Given the description of an element on the screen output the (x, y) to click on. 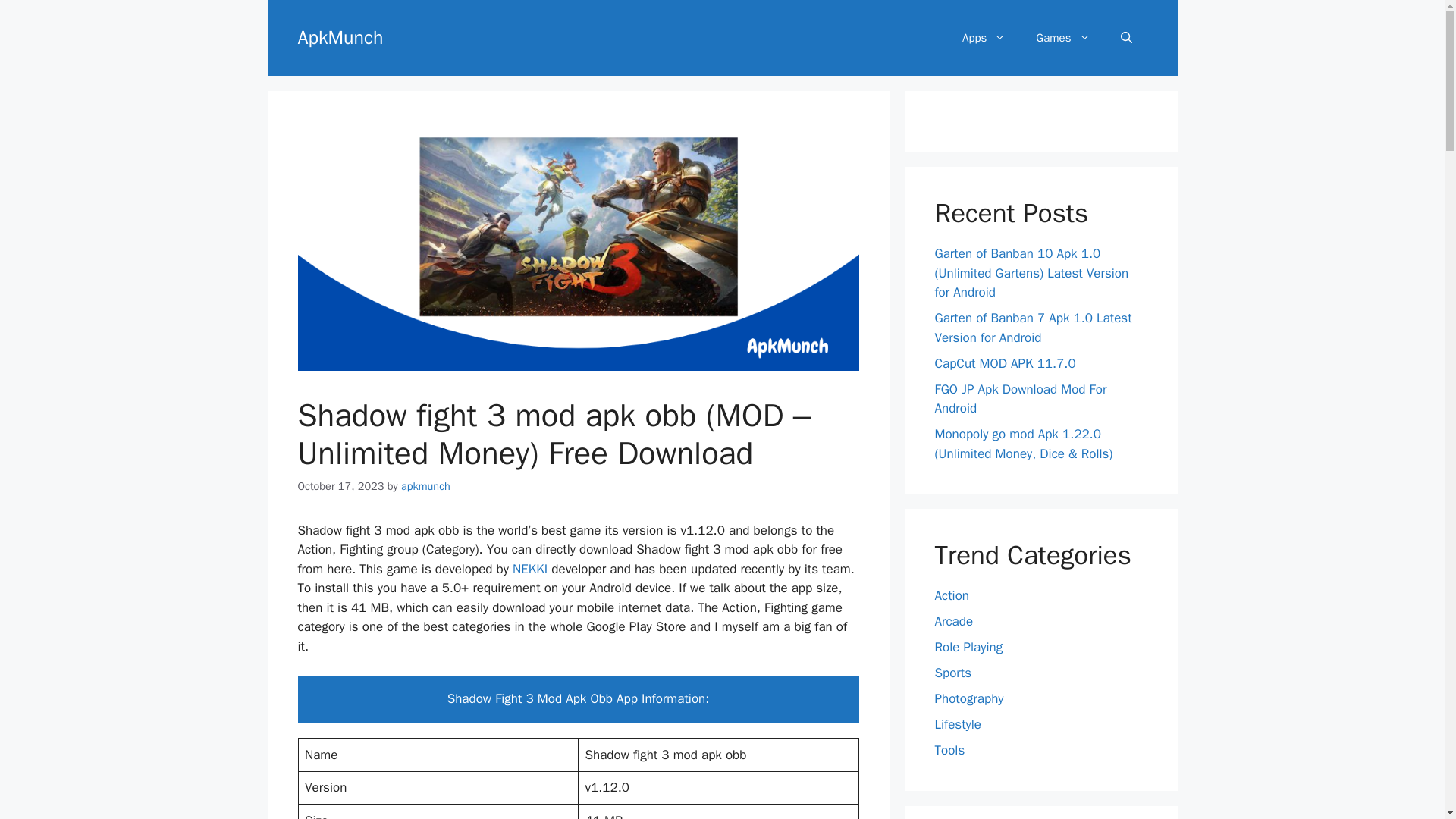
ApkMunch (339, 37)
View all posts by apkmunch (425, 486)
Apps (983, 37)
NEKKI (529, 569)
Games (1062, 37)
apkmunch (425, 486)
